Given the description of an element on the screen output the (x, y) to click on. 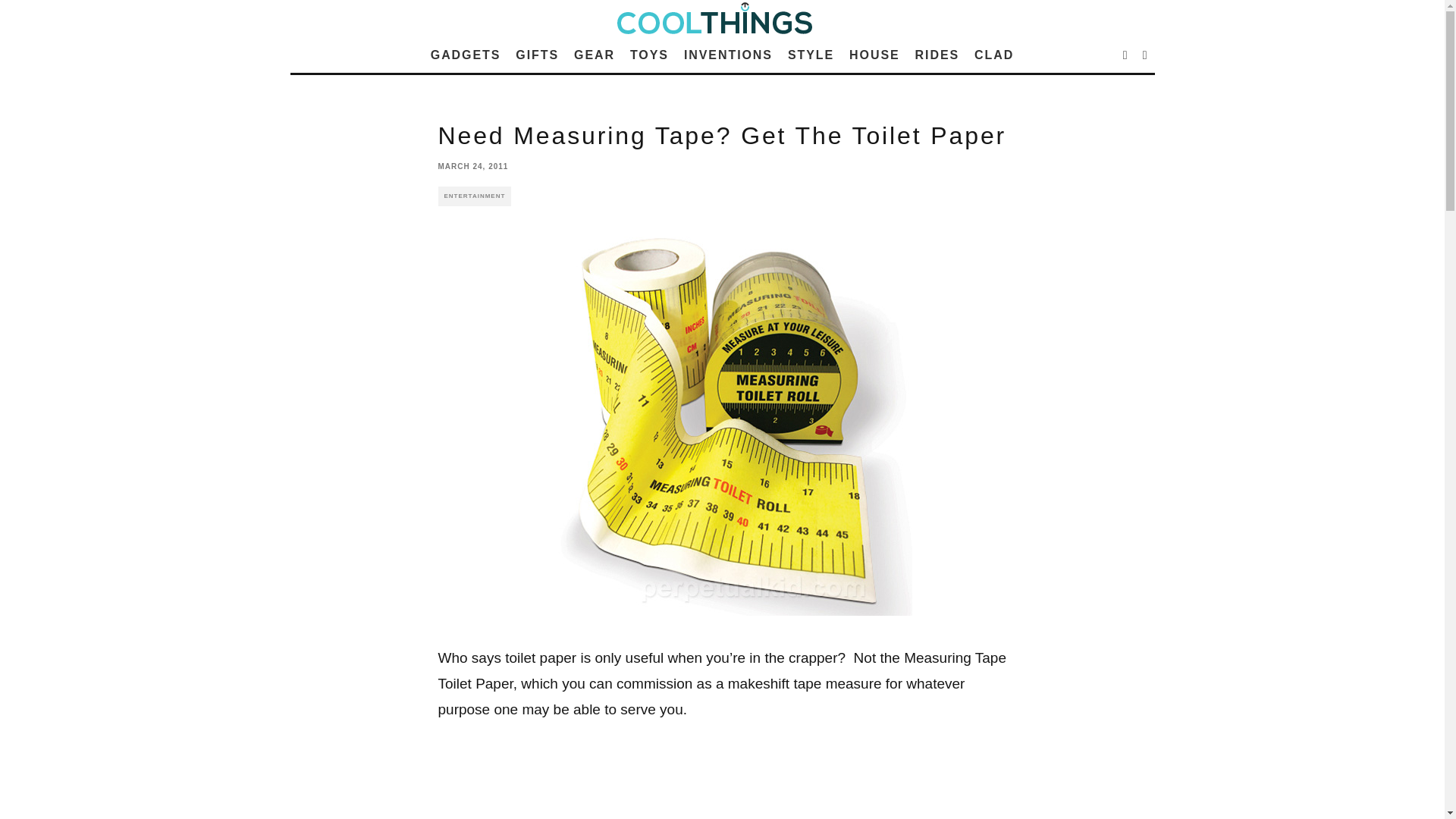
GIFTS (537, 54)
GEAR (594, 54)
TOYS (650, 54)
INVENTIONS (728, 54)
Advertisement (722, 785)
GADGETS (465, 54)
STYLE (810, 54)
